Given the description of an element on the screen output the (x, y) to click on. 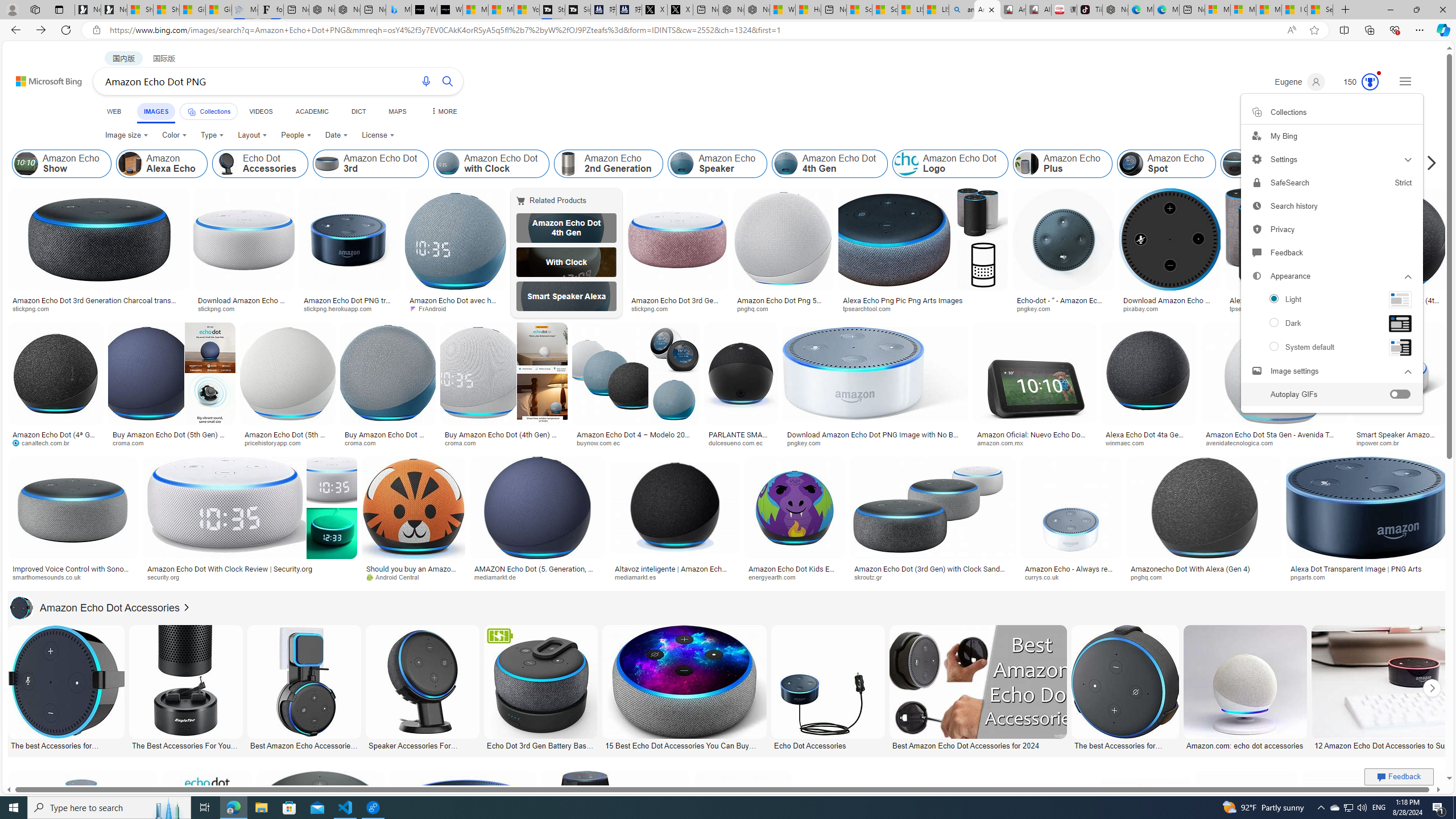
DICT (357, 111)
Echo Dot Generations (1355, 163)
skroutz.gr (932, 576)
inpower.com.br (1399, 442)
currys.co.uk (1070, 576)
Appearance (1331, 323)
stickpng.herokuapp.com (342, 308)
pngkey.com (807, 442)
